Given the description of an element on the screen output the (x, y) to click on. 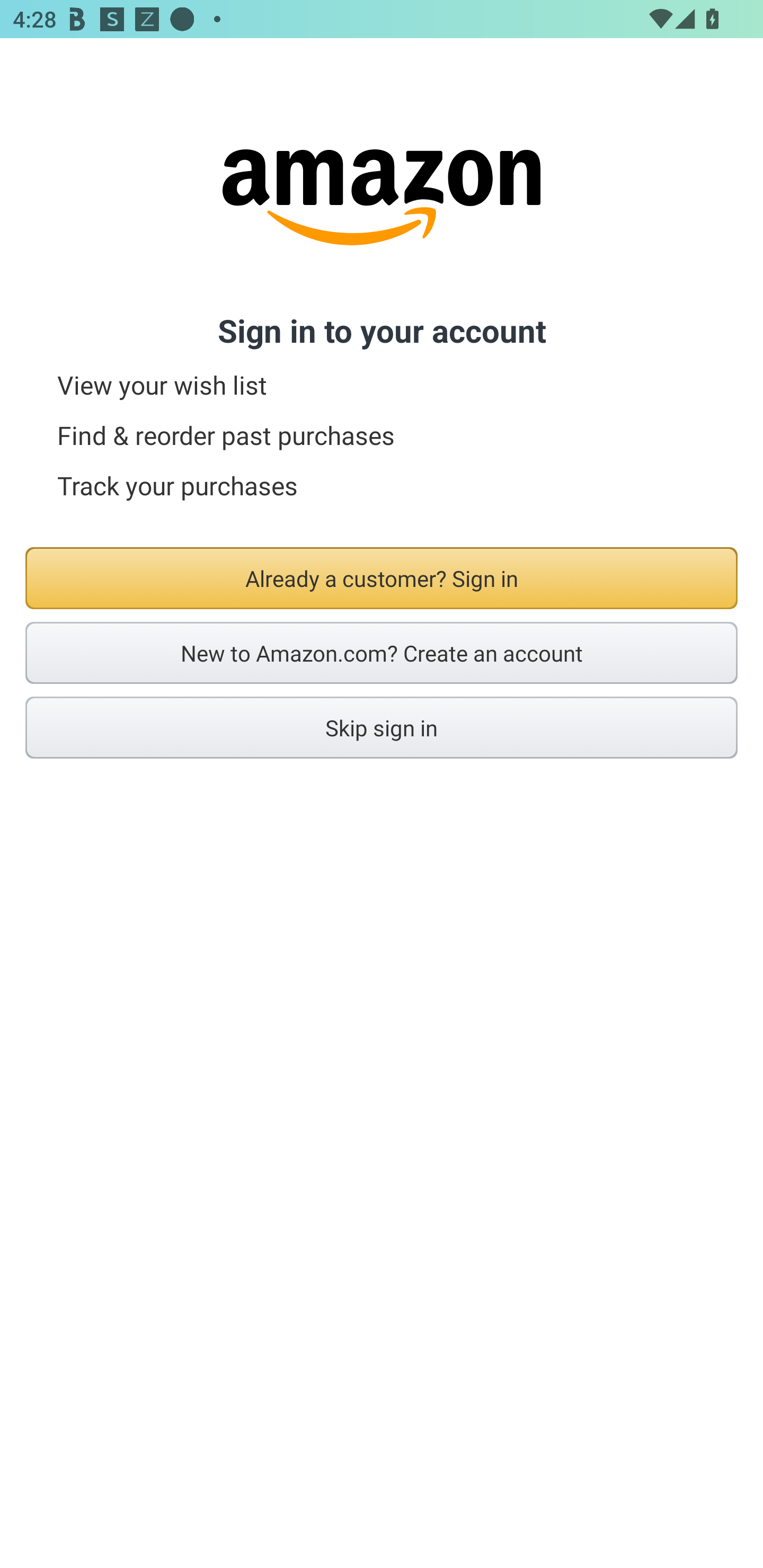
Already a customer? Sign in (381, 578)
New to Amazon.com? Create an account (381, 652)
Skip sign in (381, 727)
